Given the description of an element on the screen output the (x, y) to click on. 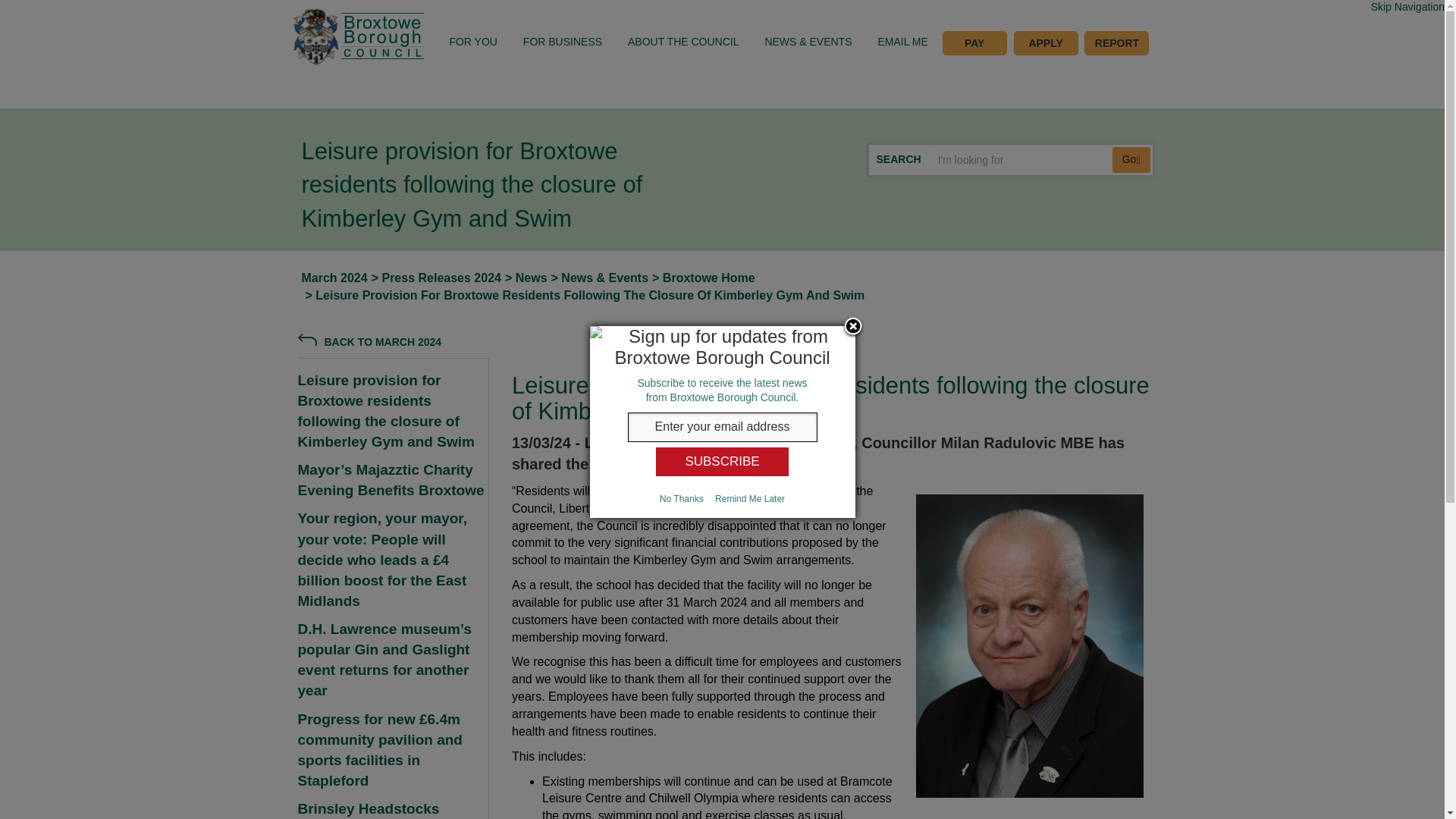
FOR BUSINESS (562, 41)
Subscribe (722, 461)
FOR YOU (473, 41)
